Given the description of an element on the screen output the (x, y) to click on. 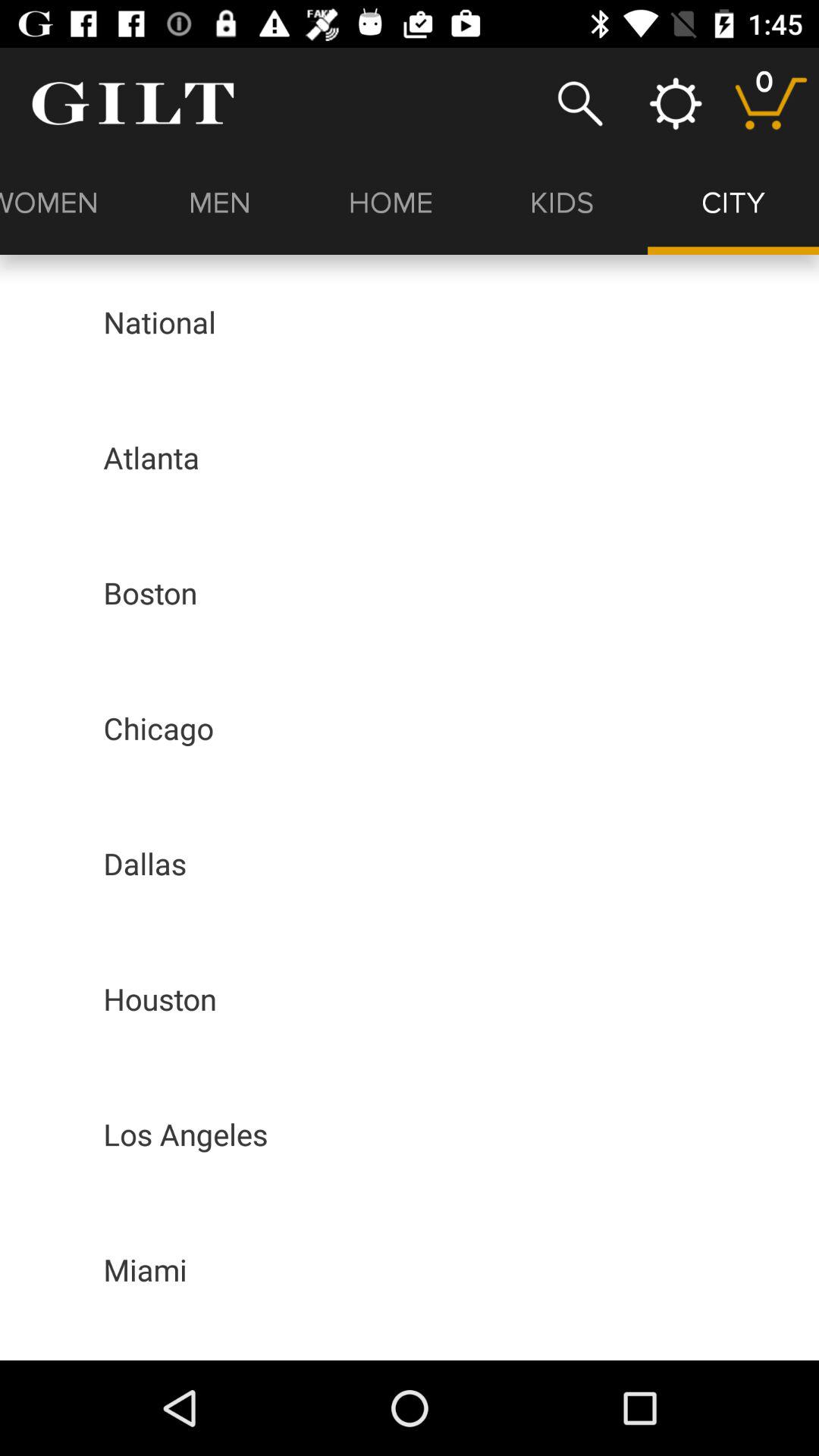
select the chicago icon (158, 728)
